Given the description of an element on the screen output the (x, y) to click on. 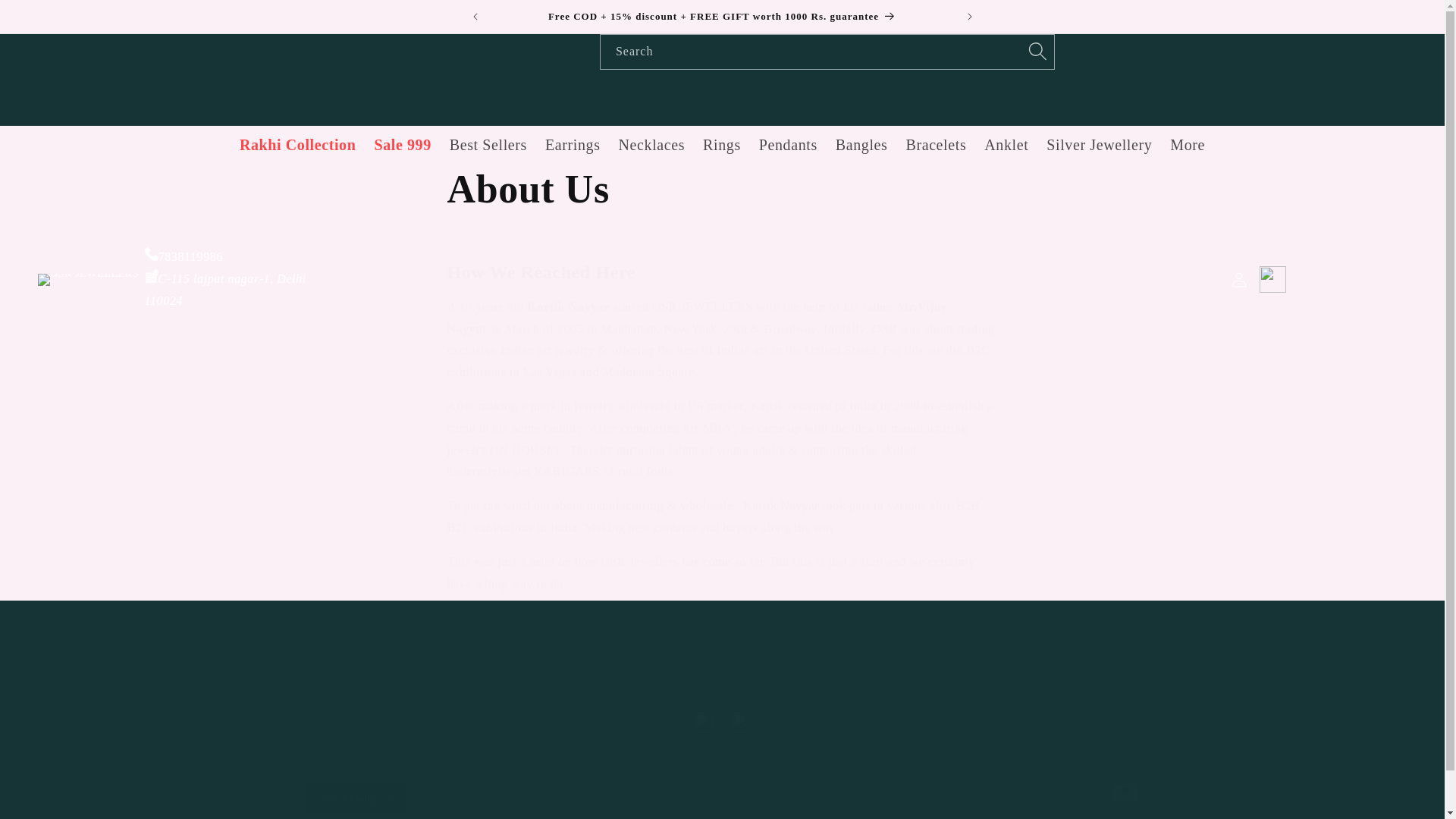
About Us (721, 721)
Skip to content (721, 189)
Anklet (45, 17)
Sale 999 (1005, 144)
Cart (402, 144)
Bangles (1271, 278)
Necklaces (861, 144)
Rakhi Collection (652, 144)
Pendants (297, 144)
Rings (788, 144)
Bracelets (721, 144)
Earrings (935, 144)
Log in (572, 144)
